Given the description of an element on the screen output the (x, y) to click on. 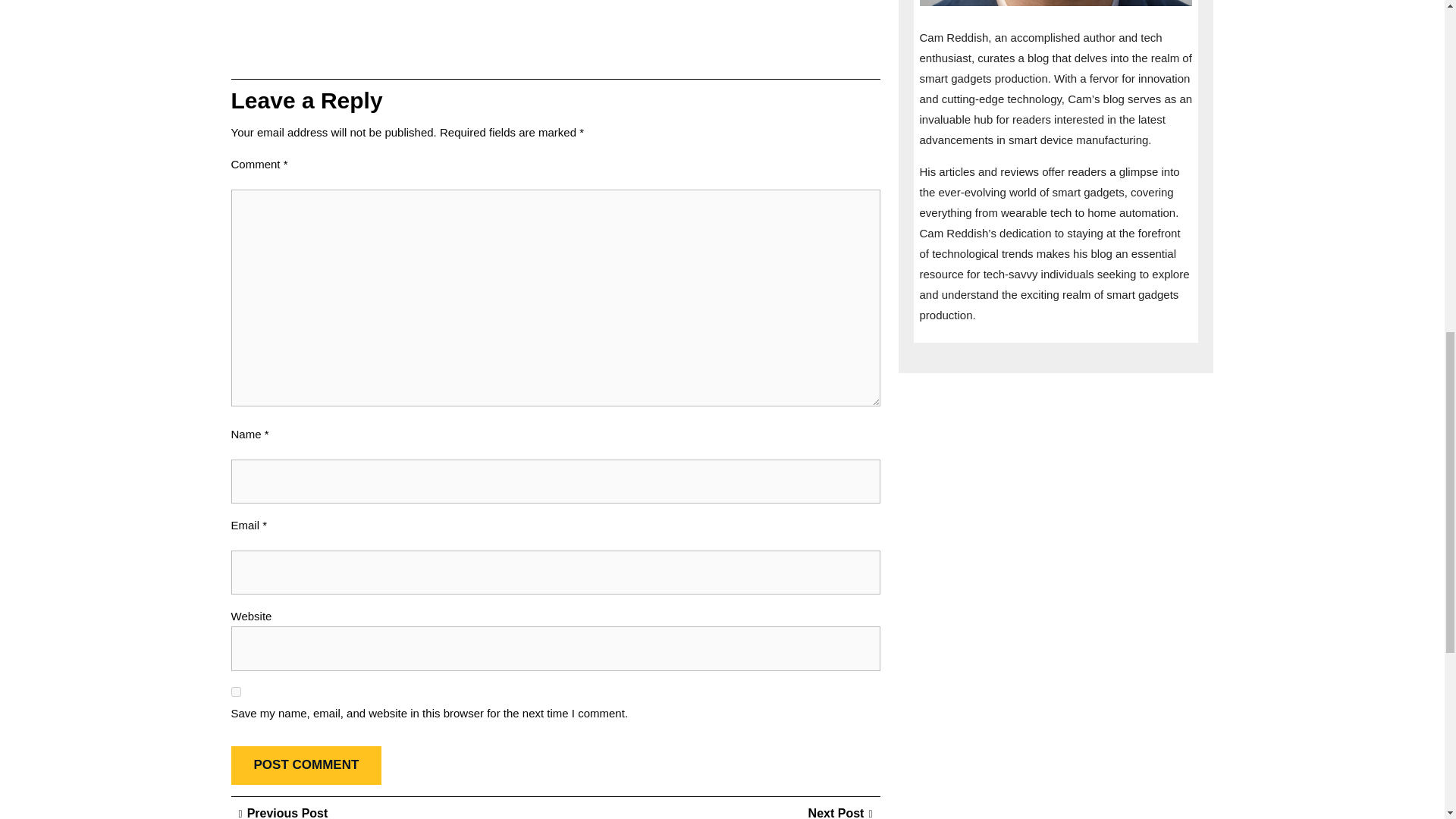
yes (235, 691)
Post Comment (305, 765)
Post Comment (305, 765)
